Given the description of an element on the screen output the (x, y) to click on. 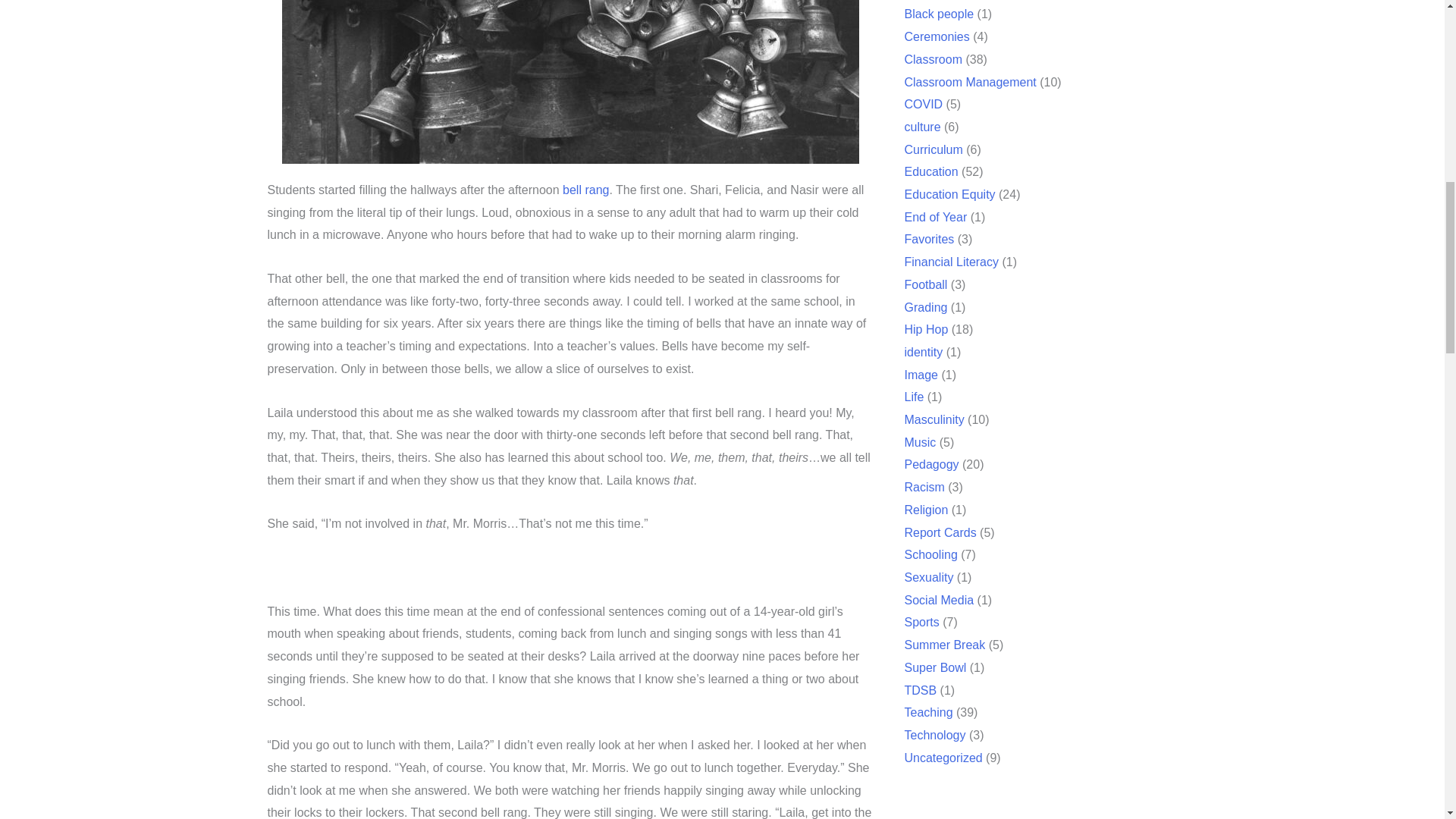
Education (931, 171)
Favorites (928, 238)
May 31, 2023 (303, 380)
EDUCATION EQUITY (442, 554)
Ceremonies (938, 36)
Financial Literacy (951, 261)
culture (922, 126)
Classroom Management (970, 82)
Curriculum (933, 149)
COVID (923, 103)
PEDAGOGY (587, 468)
Education Equity (949, 194)
End of Year (935, 216)
SCHOOLING (697, 387)
CULTURE (306, 644)
